Given the description of an element on the screen output the (x, y) to click on. 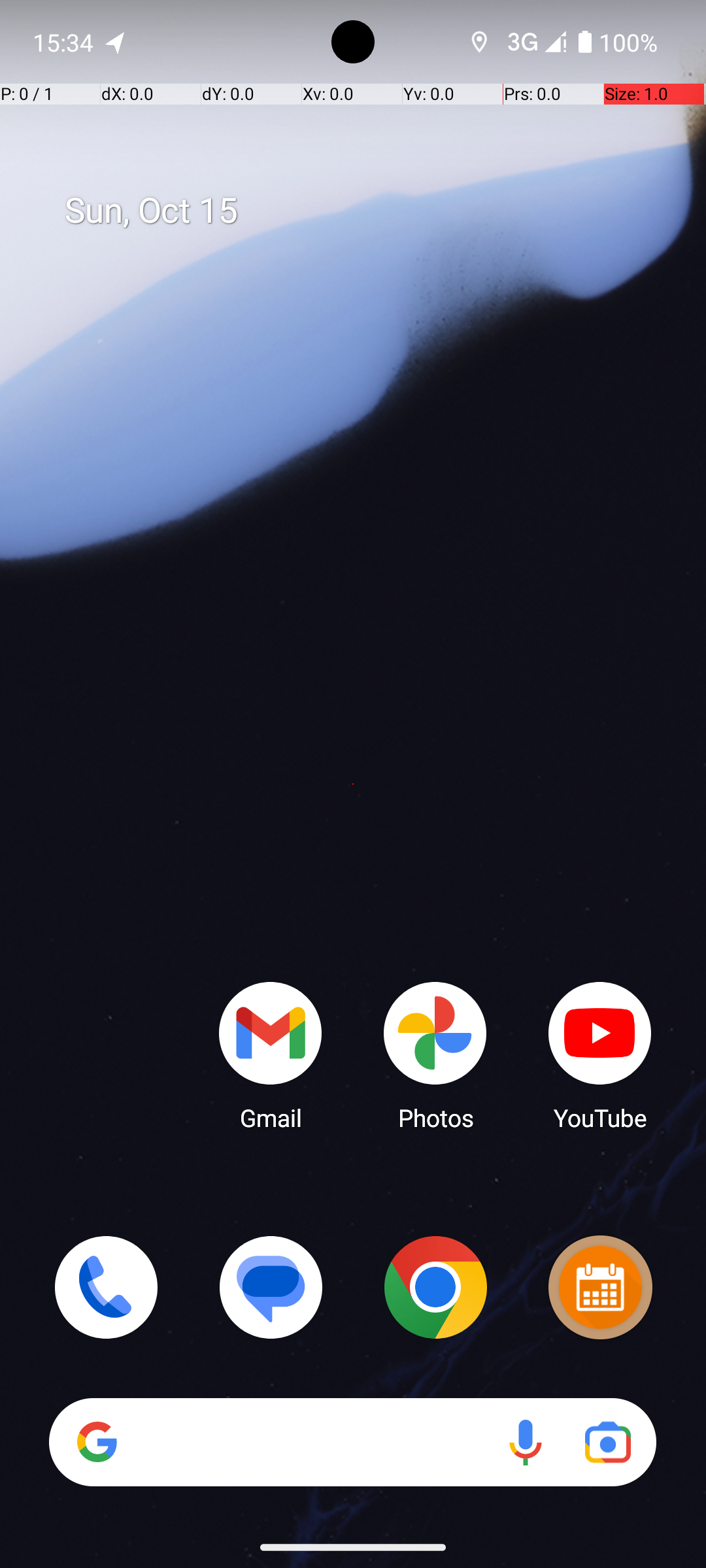
Home Element type: android.view.View (353, 804)
Phone Element type: android.widget.TextView (105, 1287)
Messages Element type: android.widget.TextView (270, 1287)
Chrome Element type: android.widget.TextView (435, 1287)
Calendar Element type: android.widget.TextView (599, 1287)
Search Element type: android.widget.FrameLayout (352, 1442)
Sun, Oct 15 Element type: android.widget.TextView (366, 210)
Gmail Element type: android.widget.TextView (270, 1054)
Photos Element type: android.widget.TextView (435, 1054)
YouTube Element type: android.widget.TextView (599, 1054)
Google app Element type: android.widget.ImageView (97, 1441)
Voice search Element type: android.widget.ImageView (525, 1442)
Google Lens Element type: android.widget.ImageButton (607, 1442)
OpenTracks notification: Distance: 0.00 ft Element type: android.widget.ImageView (115, 41)
Location requests active Element type: android.widget.ImageView (479, 41)
